Given the description of an element on the screen output the (x, y) to click on. 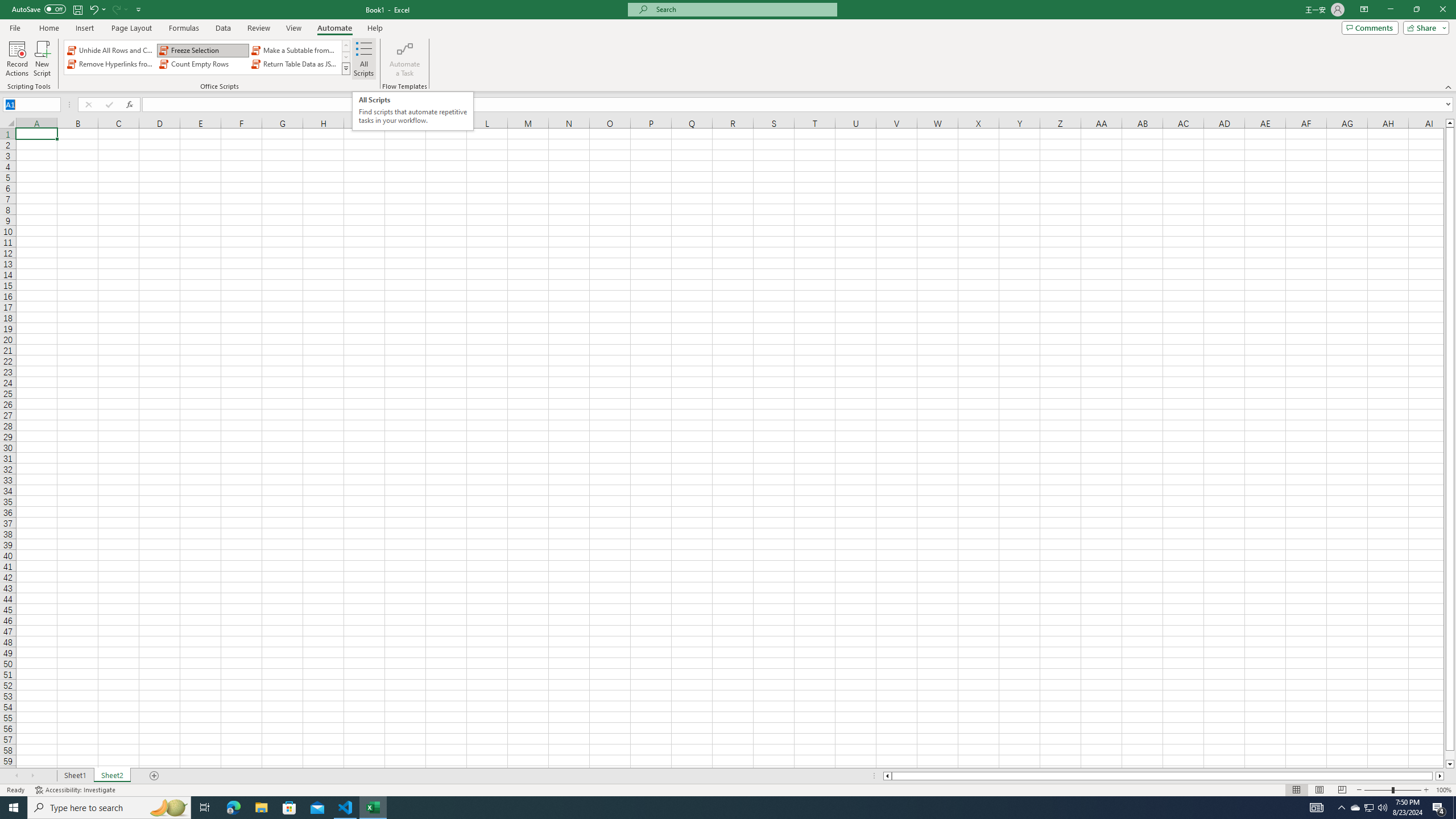
System (6, 6)
Close (1442, 9)
Class: MsoCommandBar (728, 45)
Collapse the Ribbon (1448, 86)
All Scripts (363, 58)
Home (48, 28)
Normal (1296, 790)
Undo (96, 9)
Automate a Task (404, 58)
Row Down (346, 56)
Freeze Selection (202, 50)
Quick Access Toolbar (77, 9)
